Given the description of an element on the screen output the (x, y) to click on. 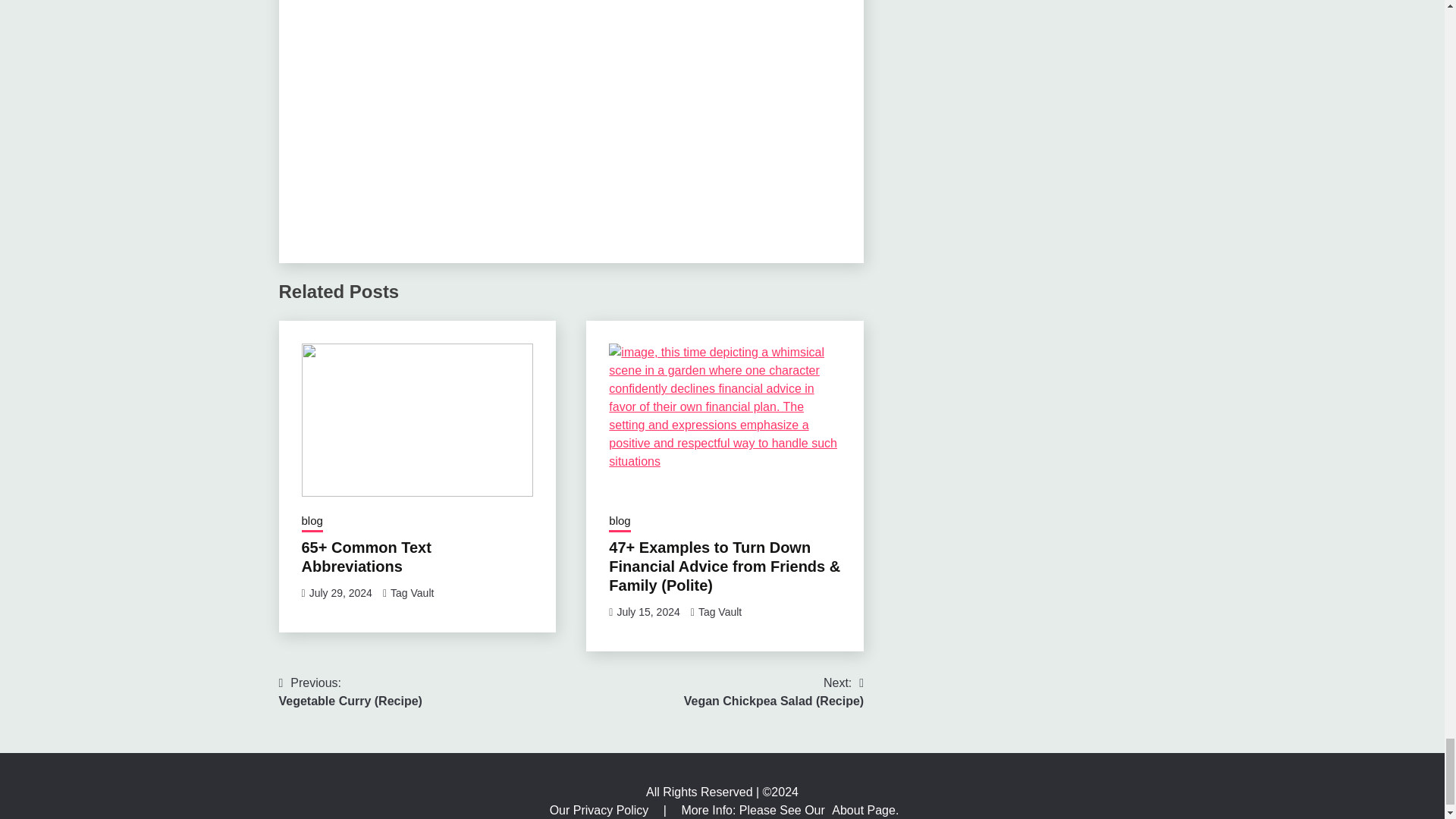
blog (619, 522)
blog (312, 522)
Tag Vault (719, 612)
About Page (863, 809)
July 29, 2024 (340, 592)
Tag Vault (411, 592)
Our Privacy Policy (601, 809)
July 15, 2024 (647, 612)
